Given the description of an element on the screen output the (x, y) to click on. 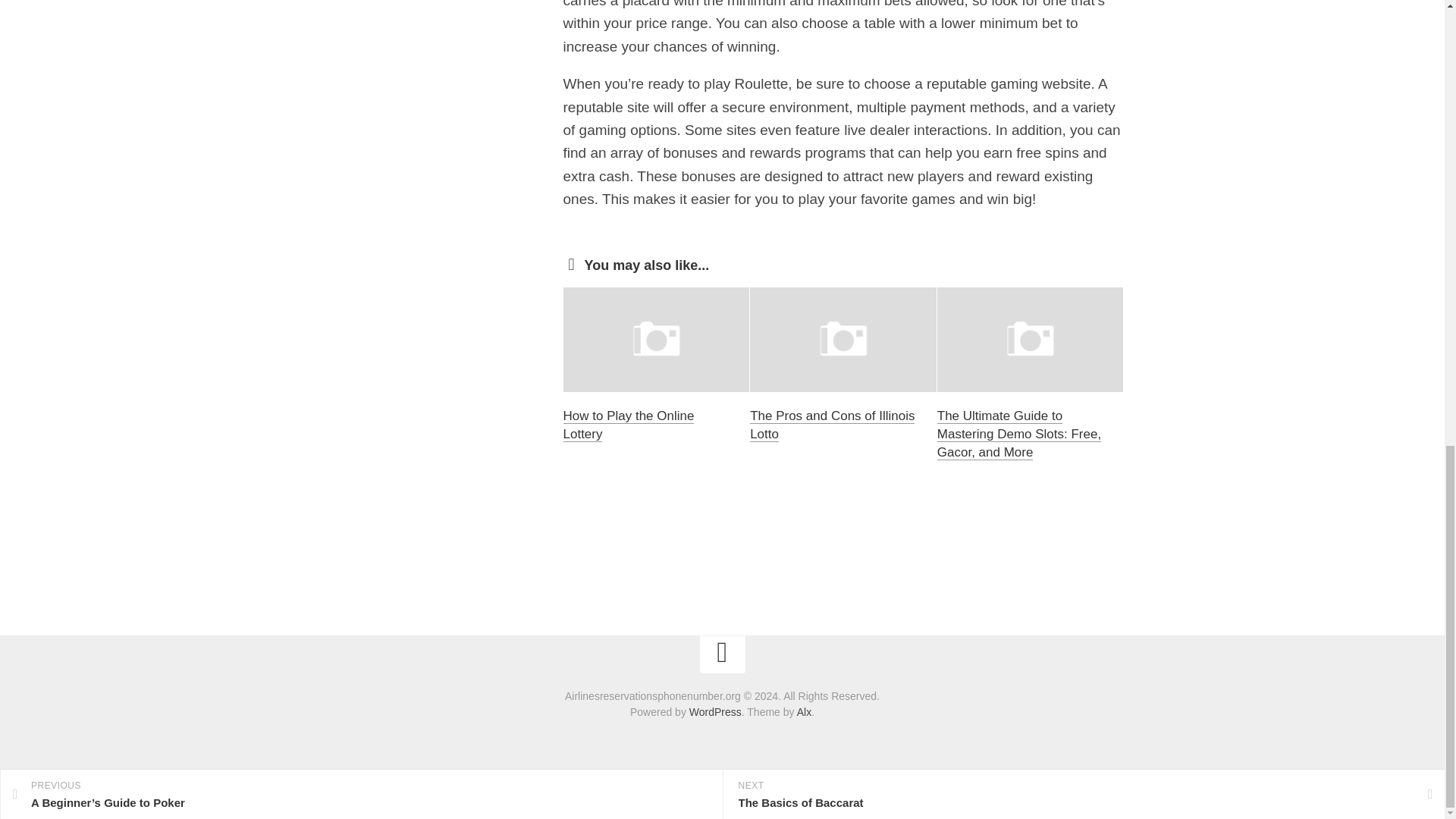
The Pros and Cons of Illinois Lotto (831, 424)
Alx (803, 711)
WordPress (714, 711)
How to Play the Online Lottery (628, 424)
